Given the description of an element on the screen output the (x, y) to click on. 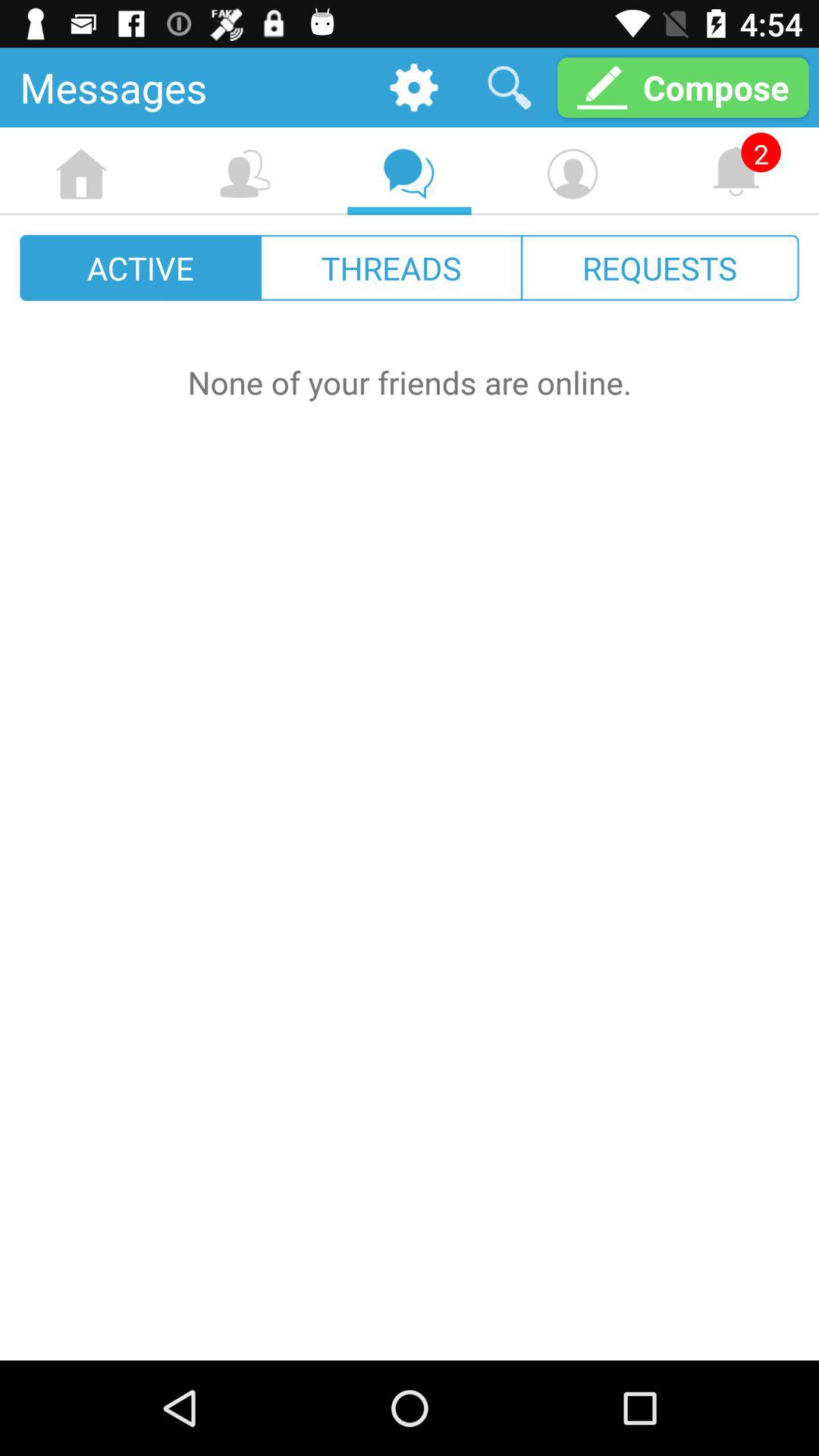
tap the item to the right of the threads icon (659, 267)
